Given the description of an element on the screen output the (x, y) to click on. 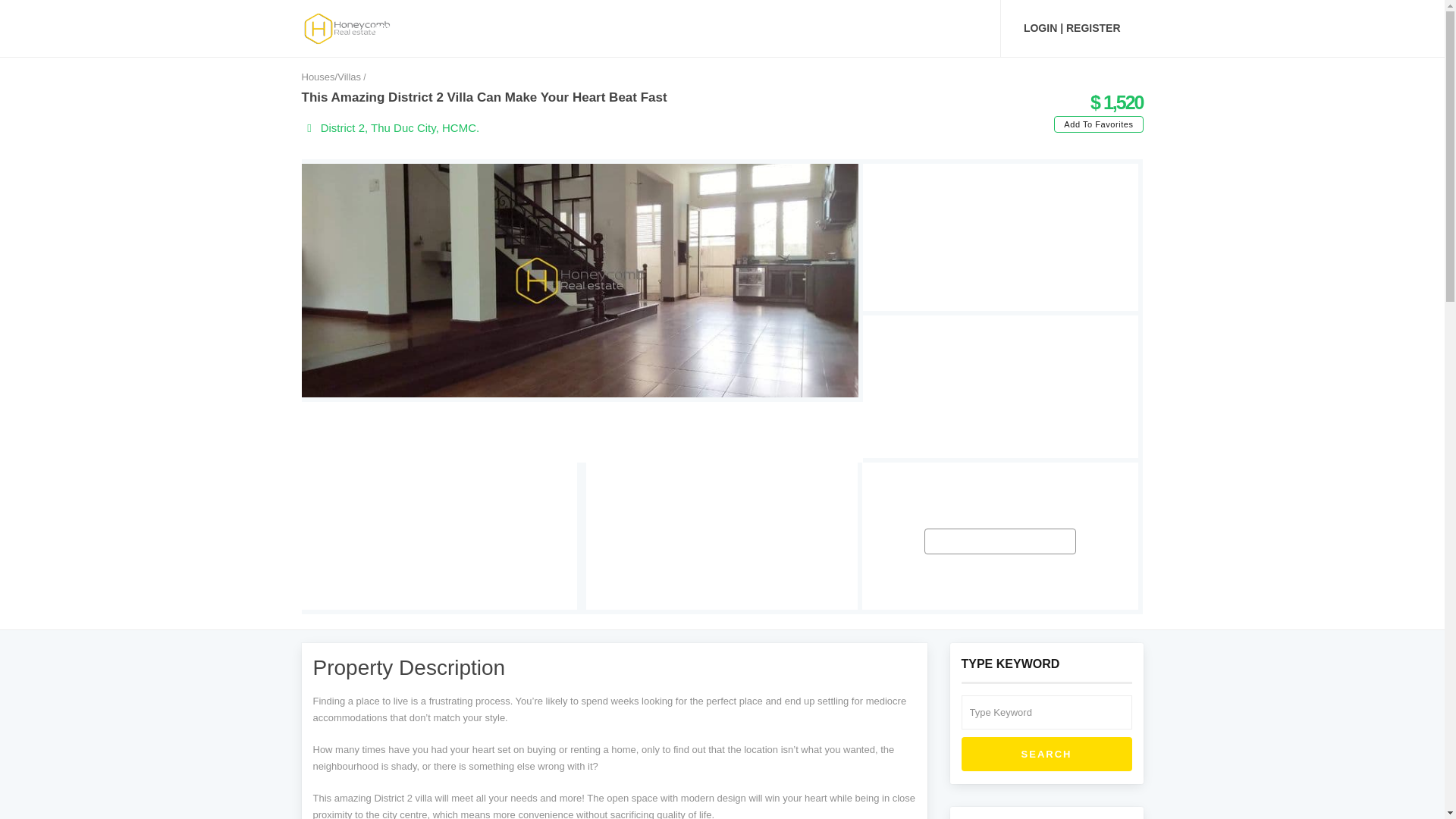
CONTACT (946, 28)
VILLA (540, 28)
ABOUT US (759, 28)
SEARCH (1046, 754)
APARTMENT (463, 28)
Discover a place you will love in HCMC (347, 27)
TESTIMONIALS (853, 28)
SERVICED APARTMENT (643, 28)
HOME (386, 28)
